Given the description of an element on the screen output the (x, y) to click on. 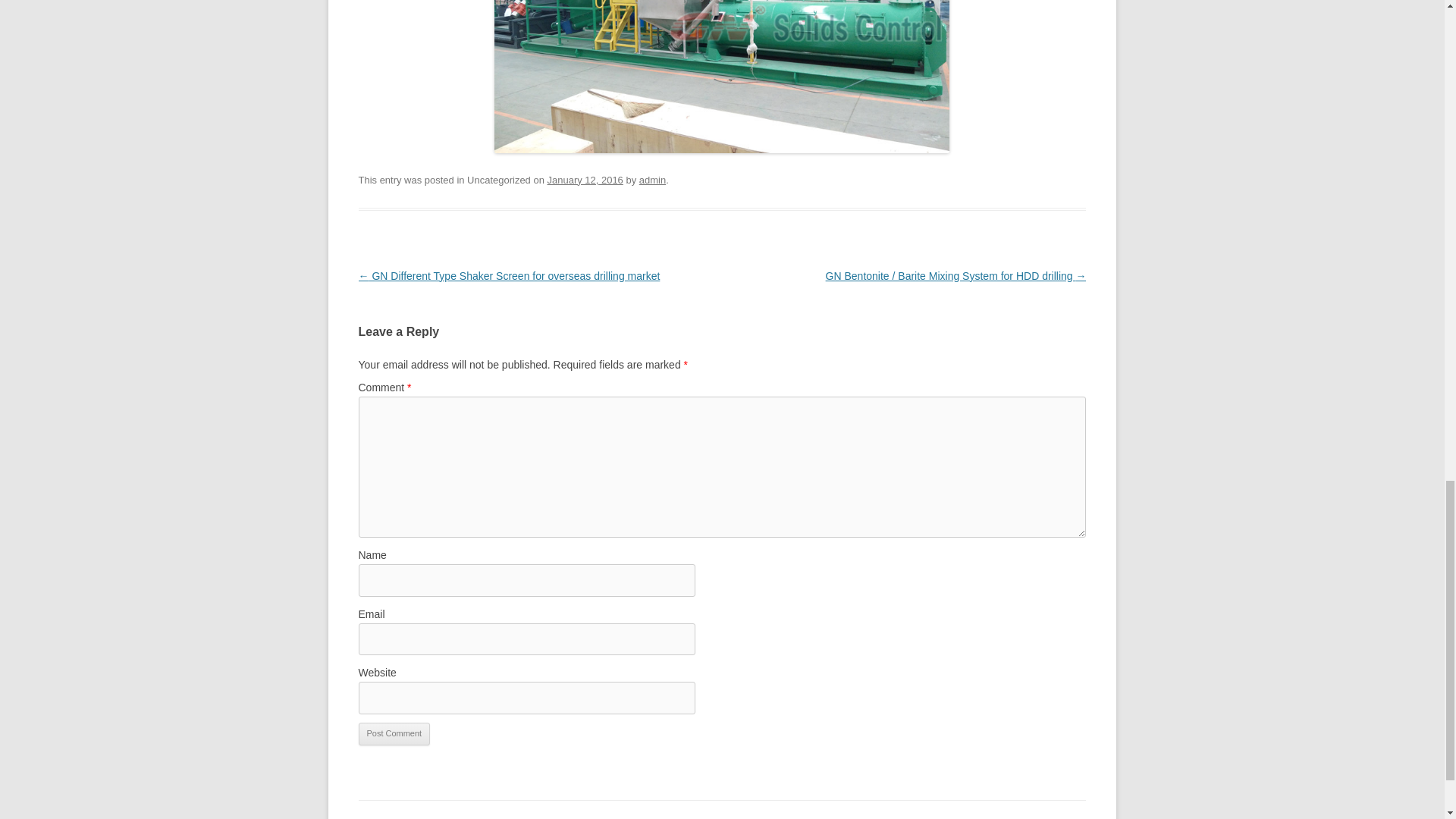
admin (652, 179)
7:56 pm (585, 179)
January 12, 2016 (585, 179)
Post Comment (393, 733)
Post Comment (393, 733)
View all posts by admin (652, 179)
2016.1.13 solidification unit (722, 76)
